Given the description of an element on the screen output the (x, y) to click on. 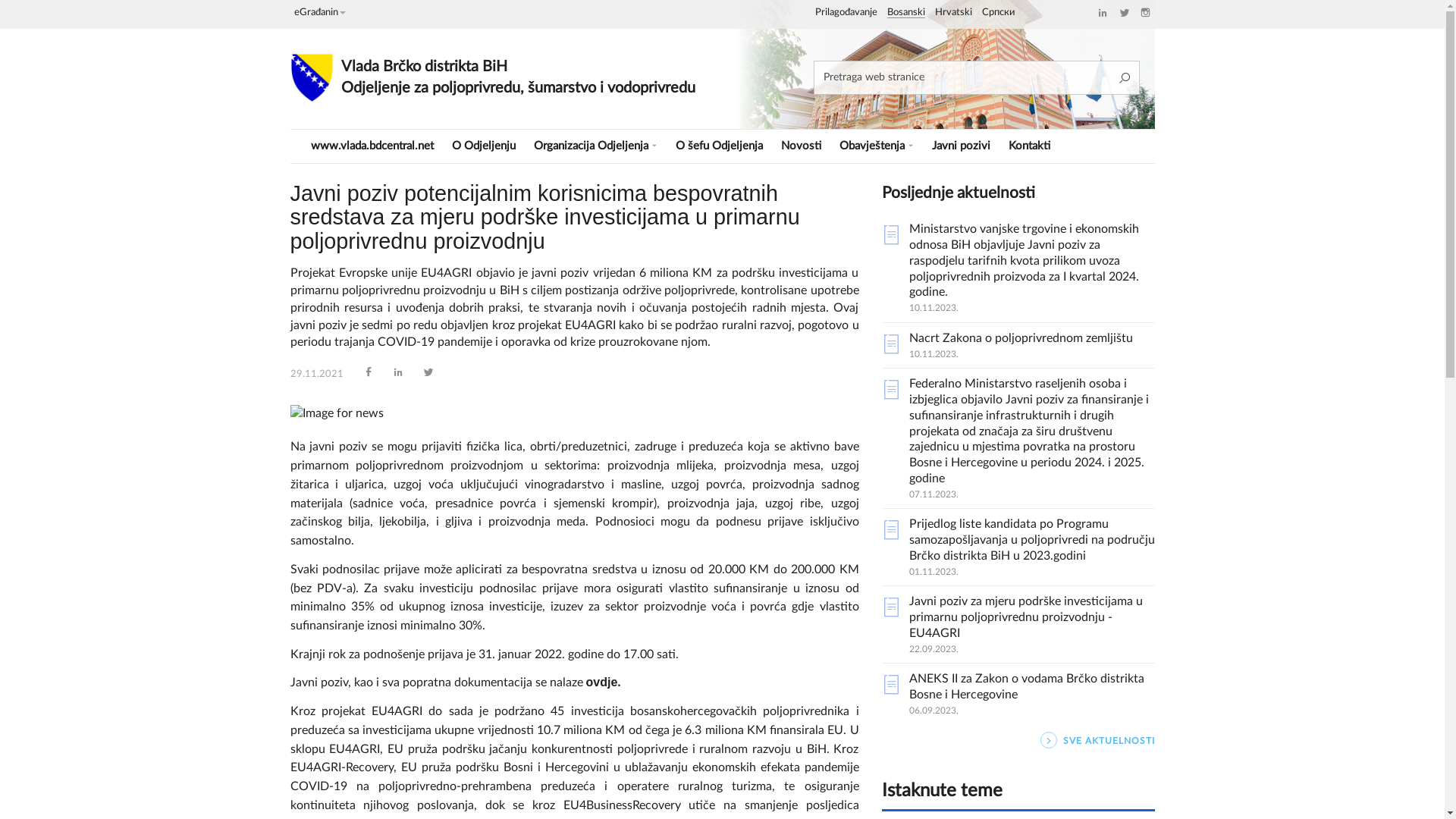
SVE AKTUELNOSTI Element type: text (1017, 740)
Kontakti Element type: text (1029, 146)
Organizacija Odjeljenja Element type: text (595, 146)
Javni pozivi Element type: text (960, 146)
www.vlada.bdcentral.net Element type: text (371, 146)
Novosti Element type: text (800, 146)
O Odjeljenju Element type: text (483, 146)
ovdje. Element type: text (602, 681)
Bosanski Element type: text (906, 12)
Hrvatski Element type: text (952, 12)
